Given the description of an element on the screen output the (x, y) to click on. 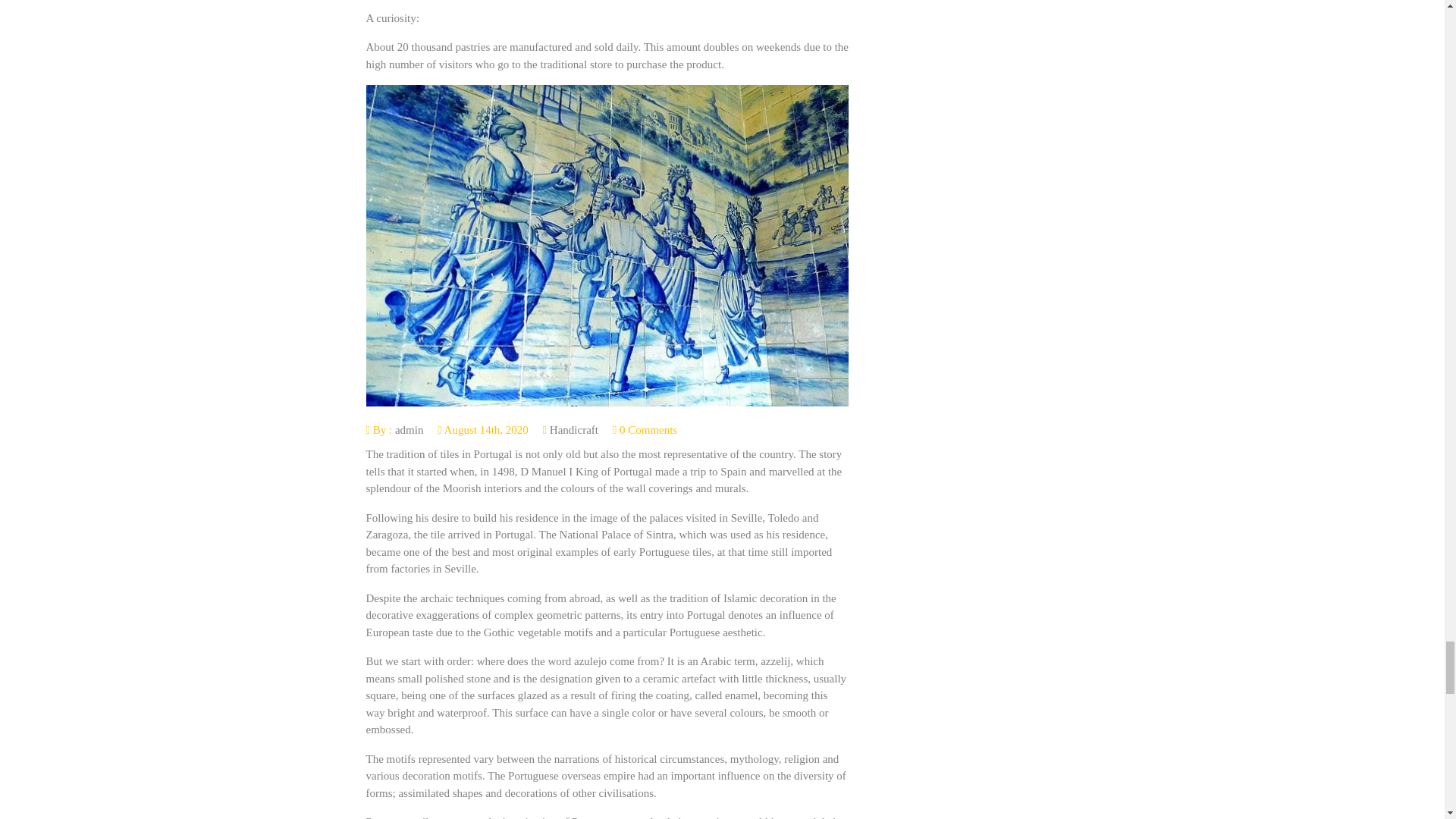
Posts by admin (408, 429)
Handicraft (574, 429)
admin (408, 429)
